Given the description of an element on the screen output the (x, y) to click on. 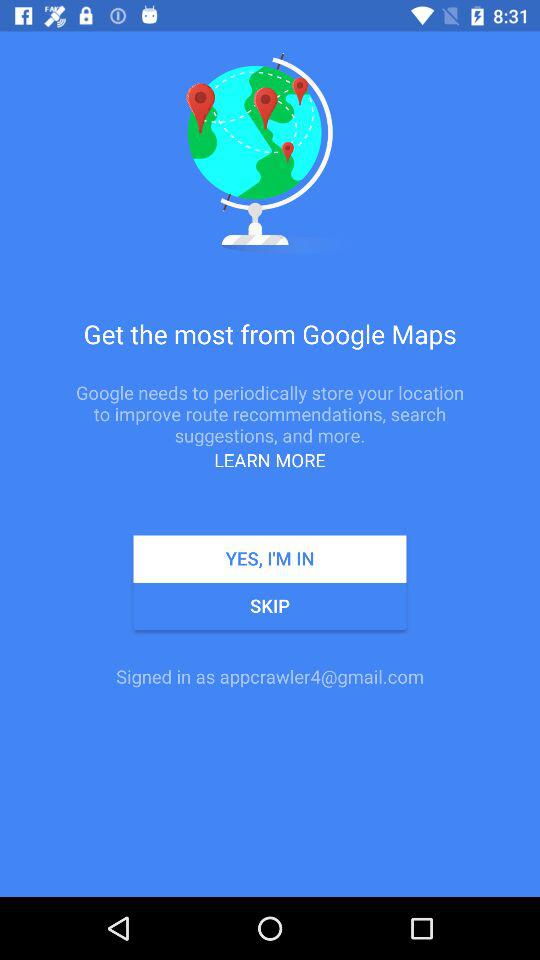
swipe to skip button (269, 606)
